Given the description of an element on the screen output the (x, y) to click on. 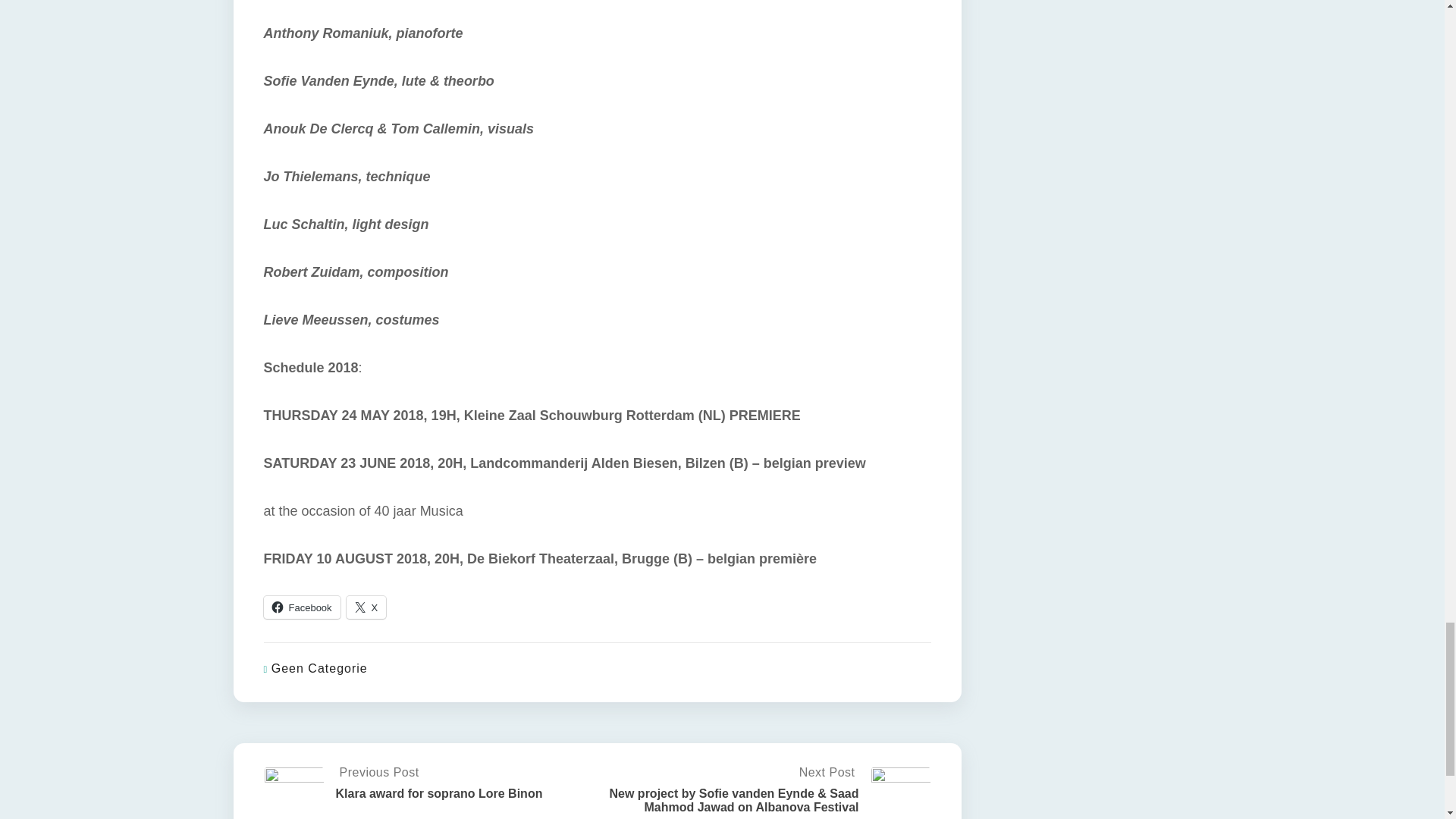
Click to share on X (366, 607)
Geen Categorie (319, 667)
X (366, 607)
Click to share on Facebook (301, 607)
Facebook (301, 607)
